Given the description of an element on the screen output the (x, y) to click on. 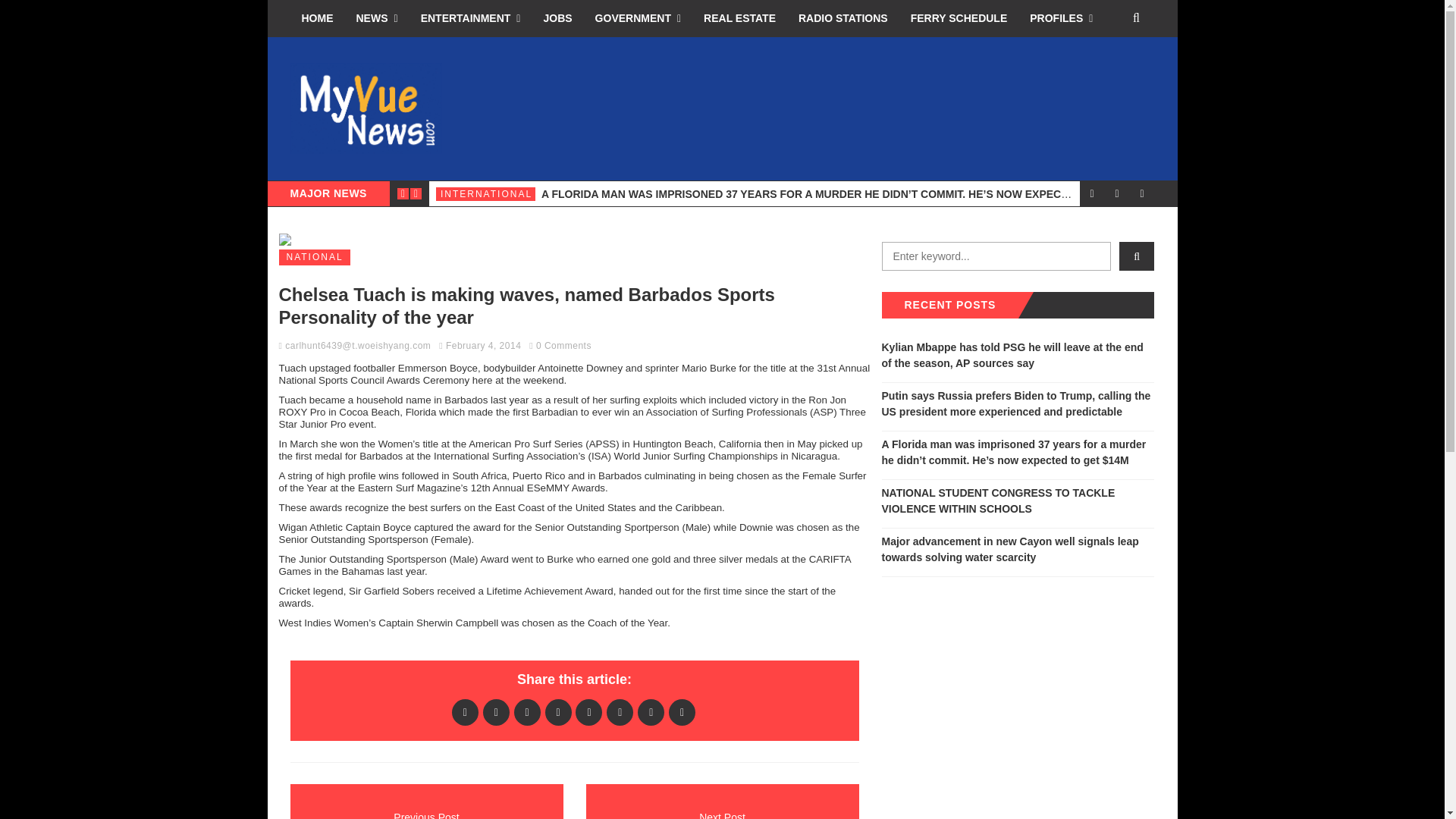
ENTERTAINMENT (470, 18)
RADIO STATIONS (843, 18)
JOBS (557, 18)
HOME (316, 18)
PROFILES (1060, 18)
GOVERNMENT (638, 18)
INTERNATIONAL (485, 193)
NEWS (376, 18)
FERRY SCHEDULE (959, 18)
REAL ESTATE (740, 18)
